Given the description of an element on the screen output the (x, y) to click on. 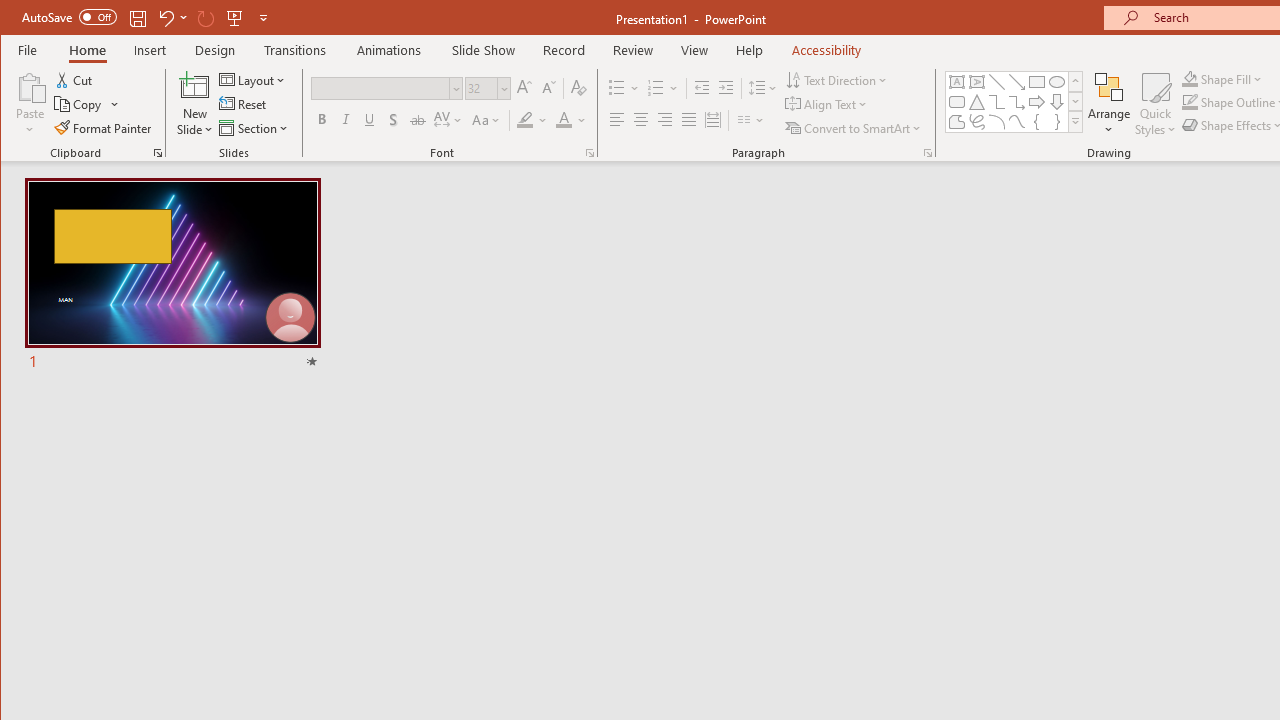
Text Direction (837, 80)
Arc (996, 121)
Paragraph... (927, 152)
Font Color Red (563, 119)
Text Highlight Color Yellow (525, 119)
Convert to SmartArt (855, 127)
Center (640, 119)
Increase Indent (726, 88)
Cut (74, 80)
Italic (346, 119)
Vertical Text Box (976, 82)
